Given the description of an element on the screen output the (x, y) to click on. 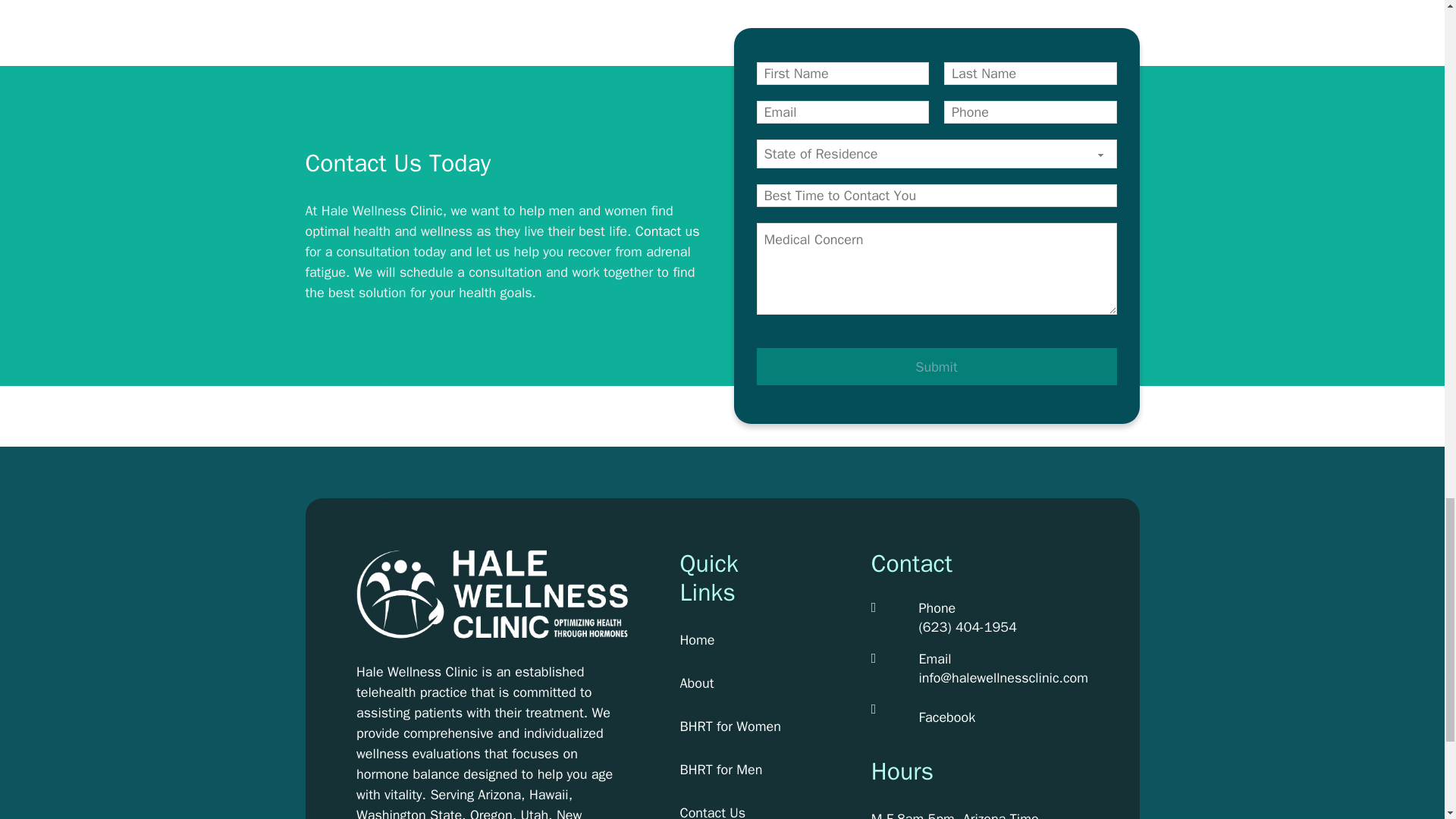
Home (729, 639)
Submit (936, 366)
BHRT for Women (729, 726)
BHRT for Men (729, 770)
Contact us (667, 230)
About (729, 683)
Contact Us (729, 811)
Facebook (946, 717)
